Given the description of an element on the screen output the (x, y) to click on. 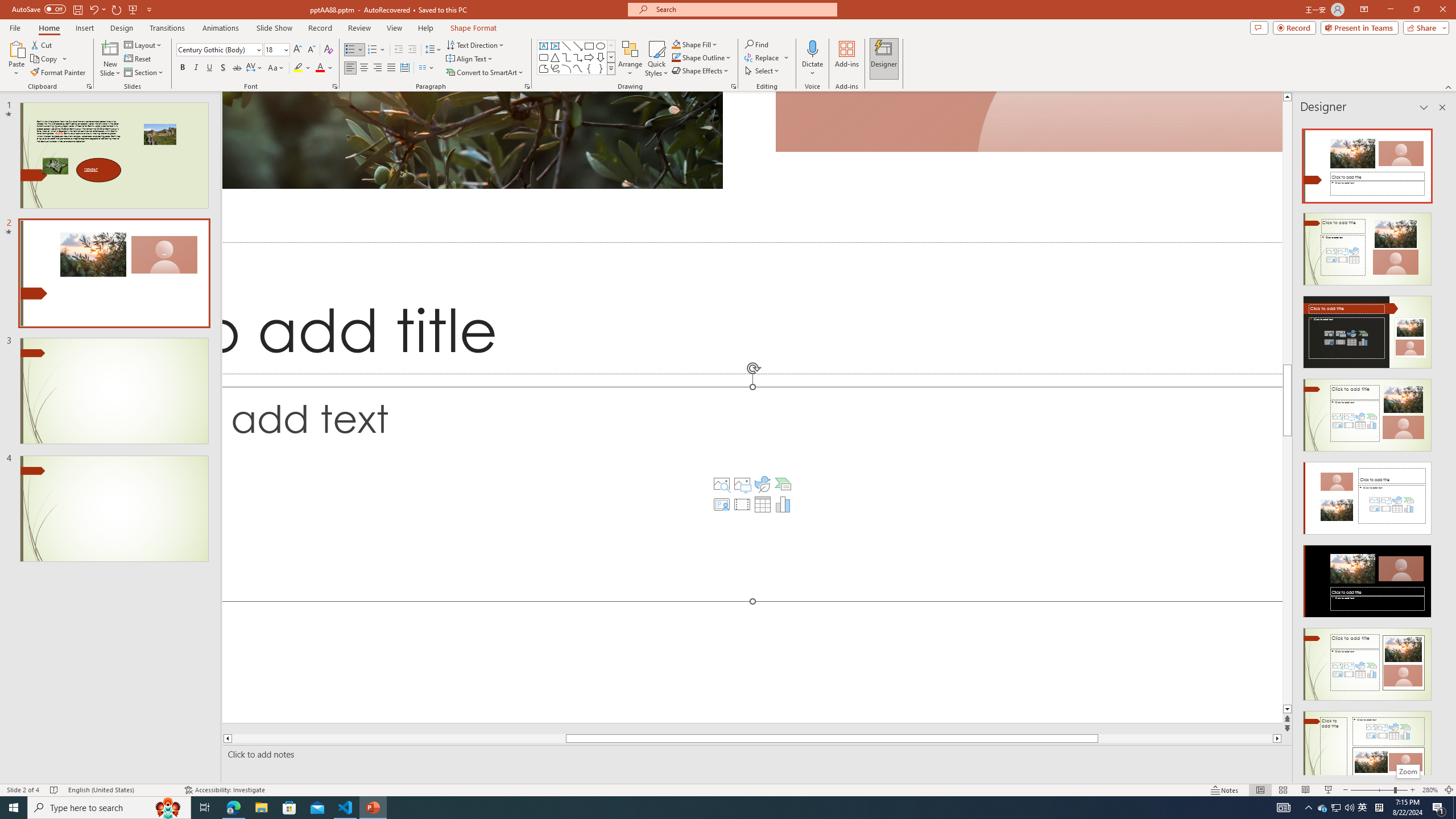
Format Painter (58, 72)
Left Brace (589, 68)
Paste (16, 48)
Freeform: Shape (543, 68)
Dictate (812, 58)
Decorative Locked (752, 406)
Cut (42, 44)
Redo (117, 9)
Help (425, 28)
Zoom In (1412, 790)
Font Color Red (320, 67)
Arrow: Down (600, 57)
Text Direction (476, 44)
